Given the description of an element on the screen output the (x, y) to click on. 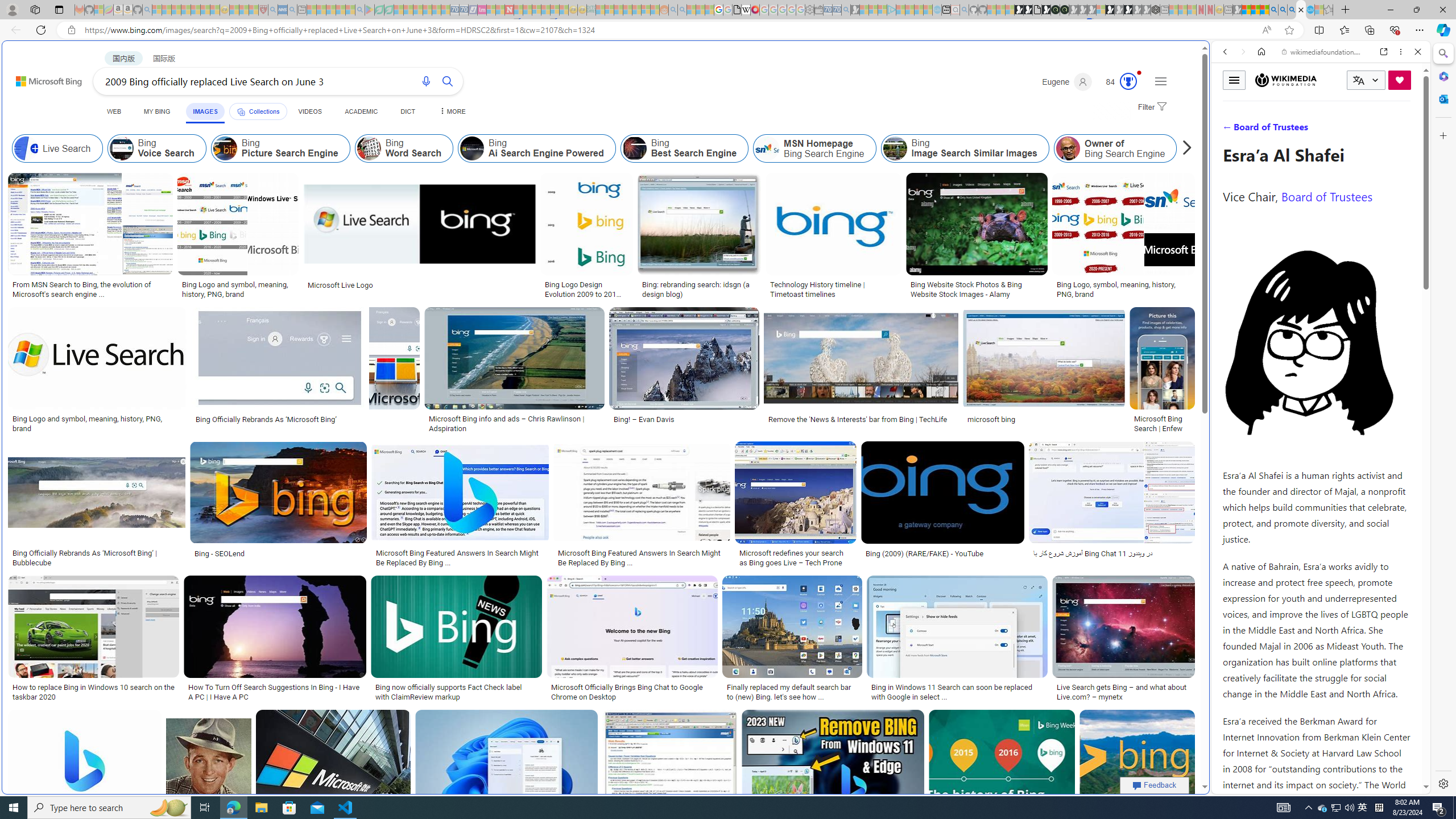
Remove the 'News & Interests' bar from Bing | TechLifeSave (863, 371)
Microsoft Start Gaming - Sleeping (854, 9)
Latest Politics News & Archive | Newsweek.com - Sleeping (508, 9)
Target page - Wikipedia (745, 9)
Search button (447, 80)
Wikimedia Foundation (1286, 79)
Bluey: Let's Play! - Apps on Google Play - Sleeping (369, 9)
